Given the description of an element on the screen output the (x, y) to click on. 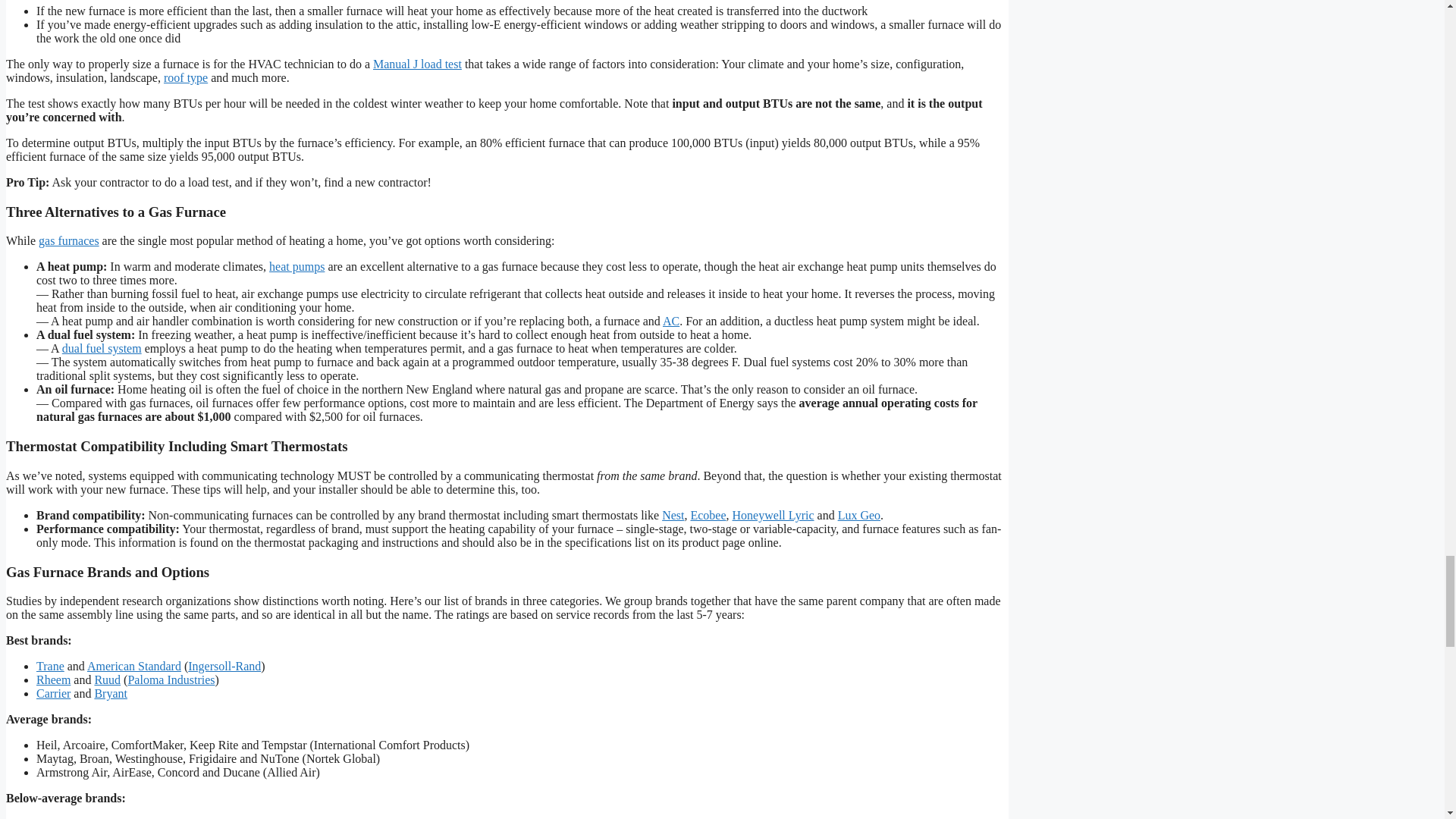
Honeywell Lyric (772, 514)
AC (670, 320)
Nest (673, 514)
heat pumps (296, 266)
dual fuel system (101, 348)
Rheem (52, 679)
Ecobee (707, 514)
Ruud (107, 679)
roof type (185, 77)
Lux Geo (859, 514)
